Given the description of an element on the screen output the (x, y) to click on. 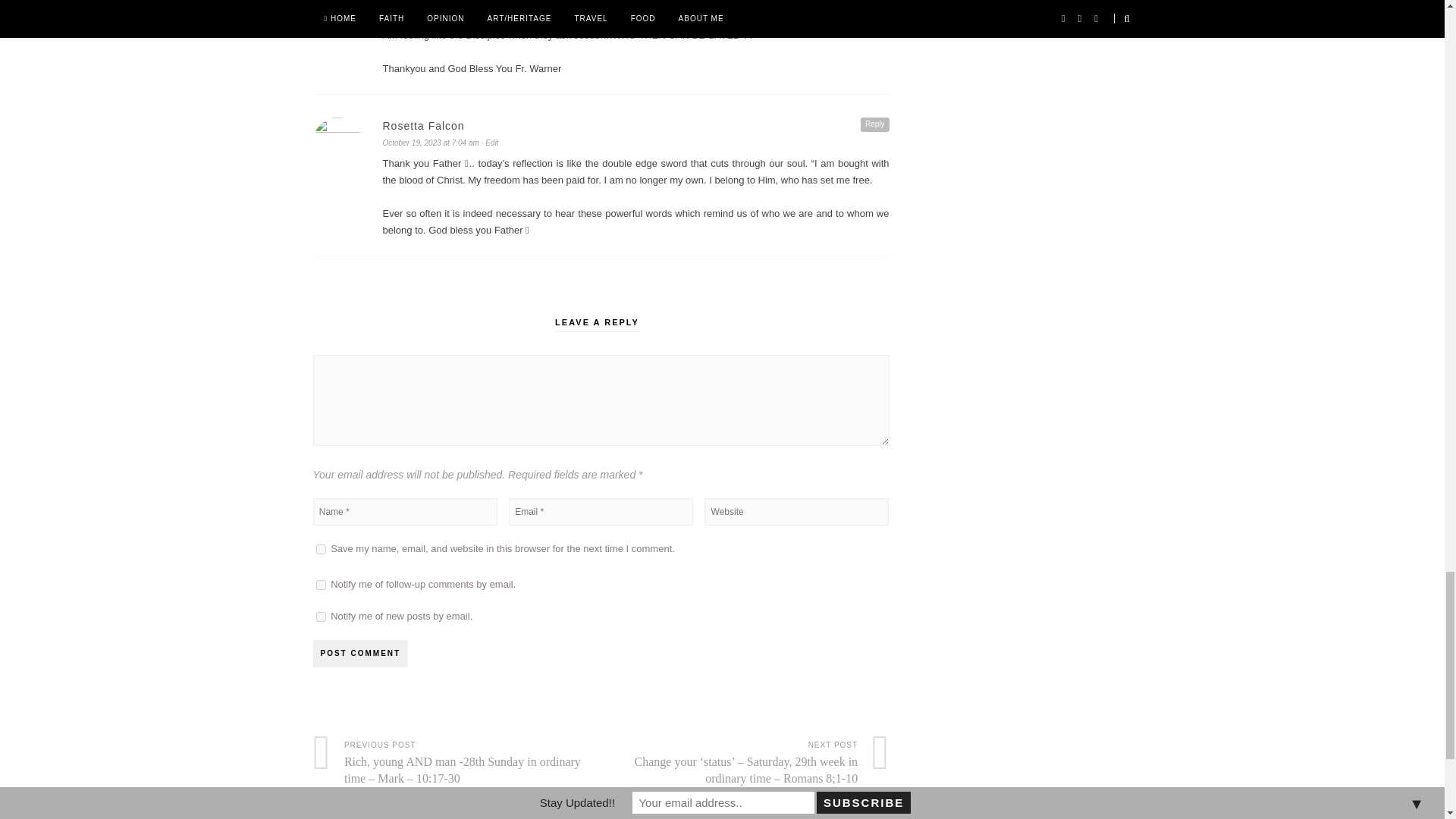
Post Comment (360, 653)
Edit Comment (490, 142)
subscribe (319, 616)
yes (319, 549)
subscribe (319, 584)
